Given the description of an element on the screen output the (x, y) to click on. 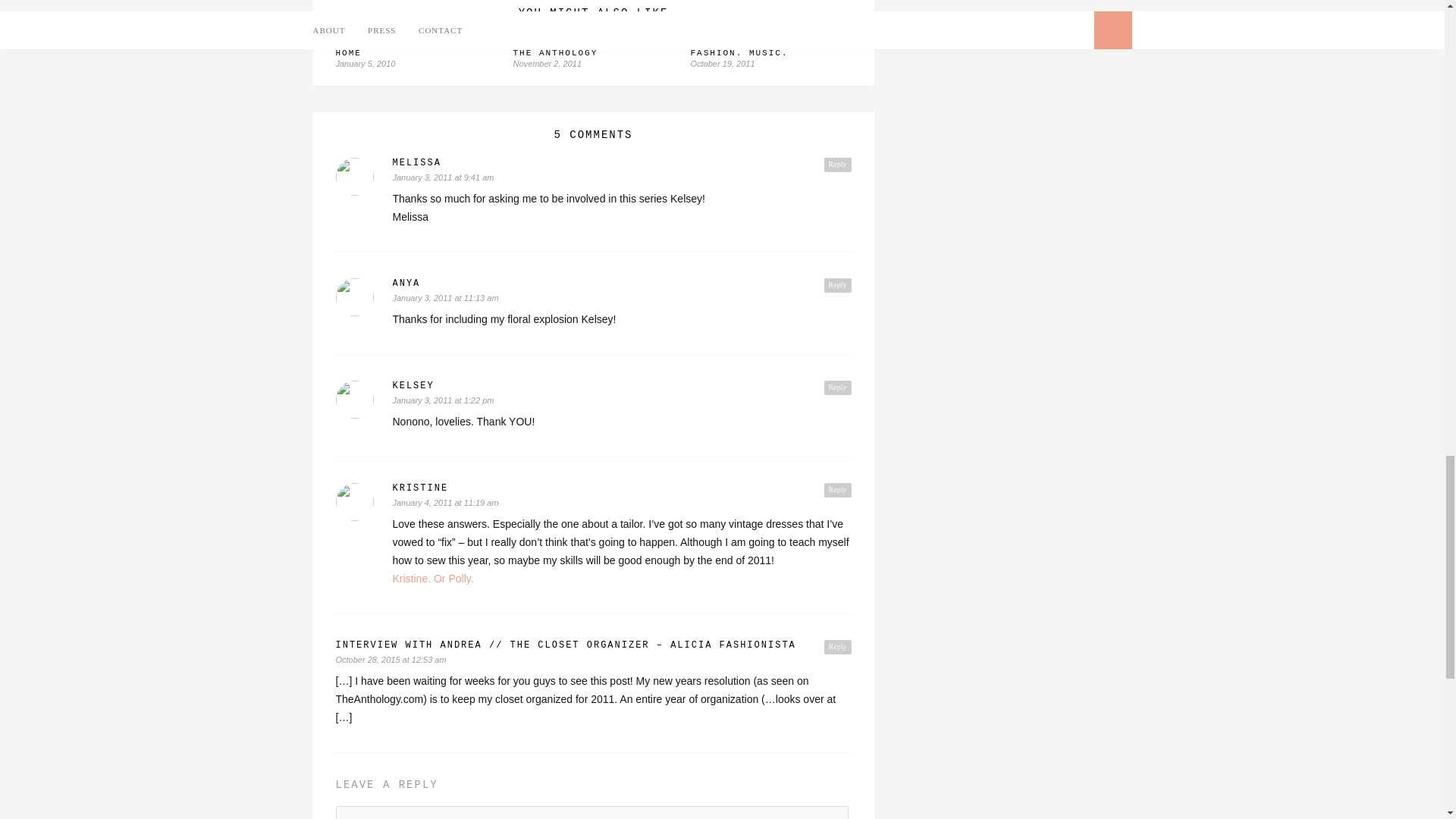
Reply (837, 164)
Reply (837, 285)
MELISSA (622, 163)
KELSEY (622, 385)
Reply (837, 387)
ANYA (622, 283)
